Given the description of an element on the screen output the (x, y) to click on. 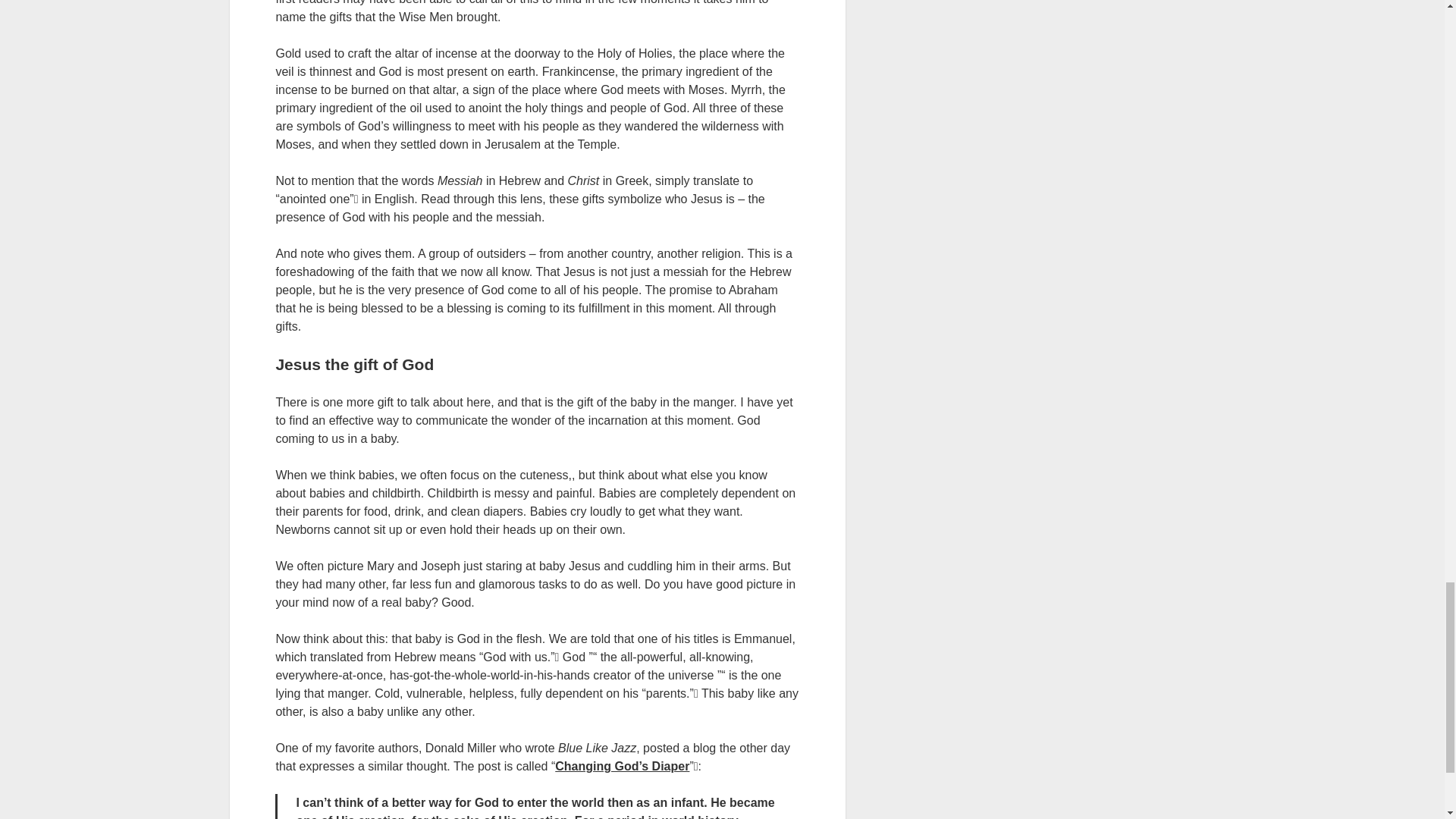
"Changing God's Diaper" by Donald Miller (621, 766)
